Given the description of an element on the screen output the (x, y) to click on. 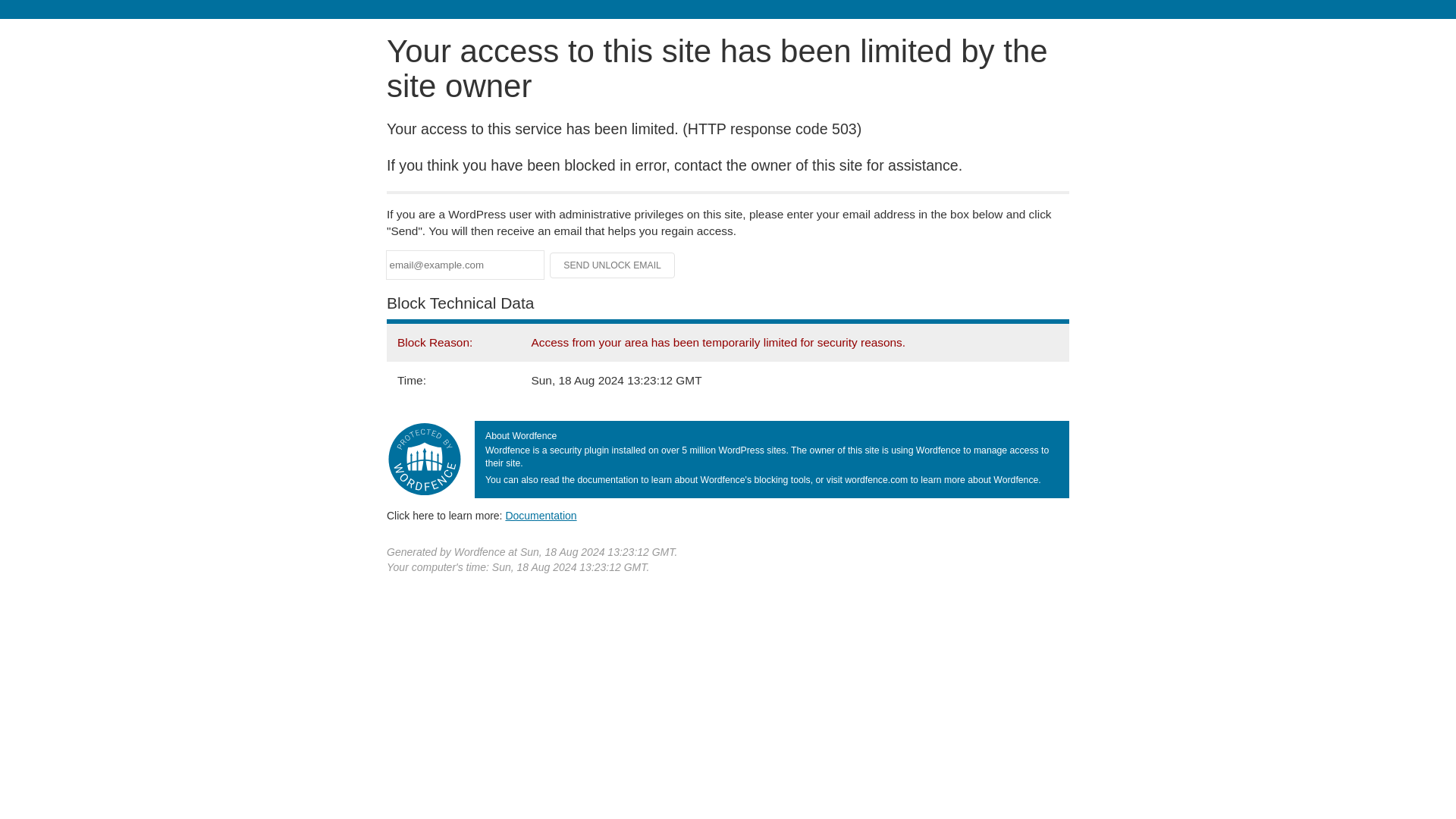
Documentation (540, 515)
Send Unlock Email (612, 265)
Send Unlock Email (612, 265)
